Given the description of an element on the screen output the (x, y) to click on. 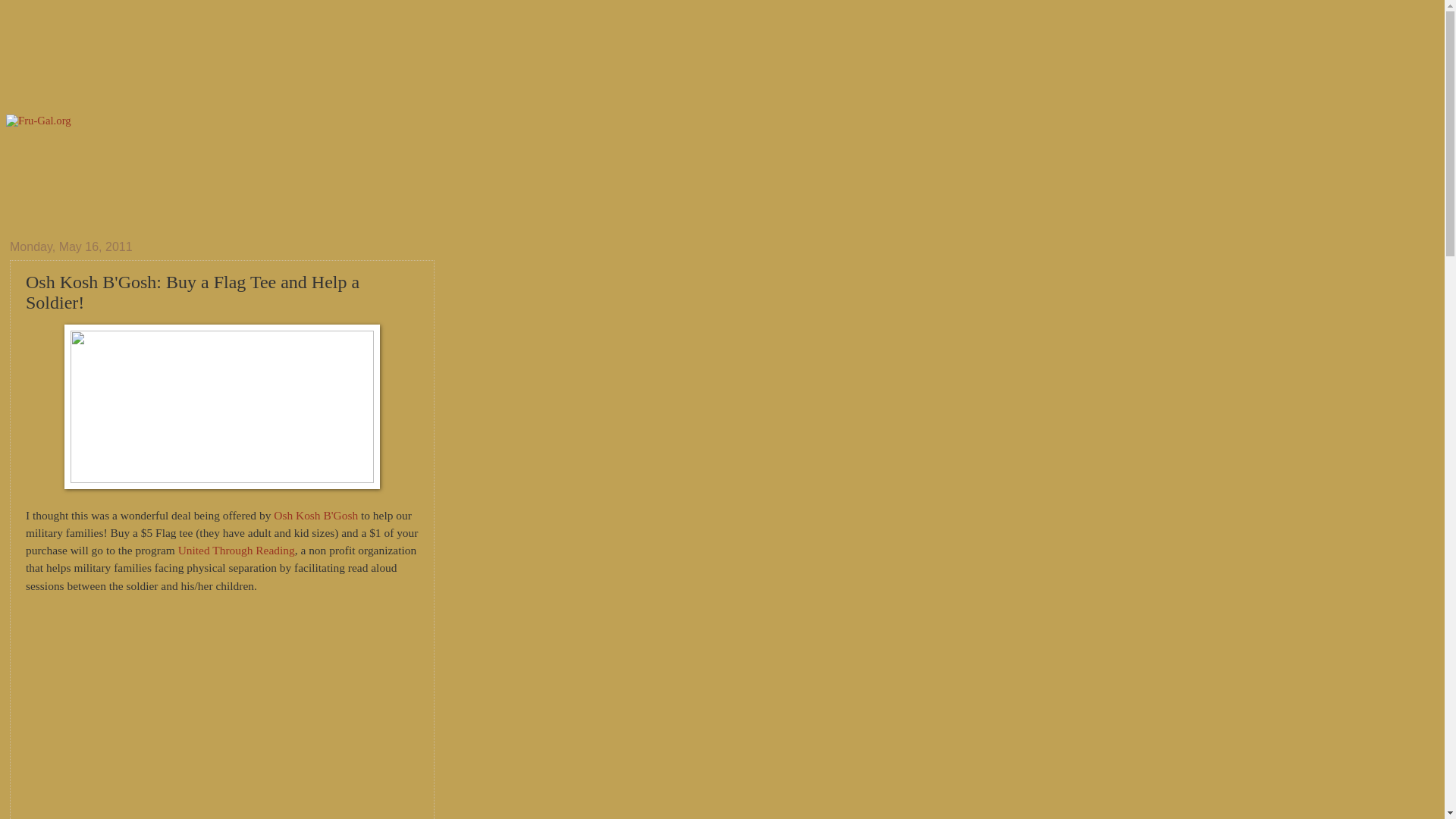
Osh Kosh B'Gosh (315, 514)
United Through Reading (236, 549)
